Given the description of an element on the screen output the (x, y) to click on. 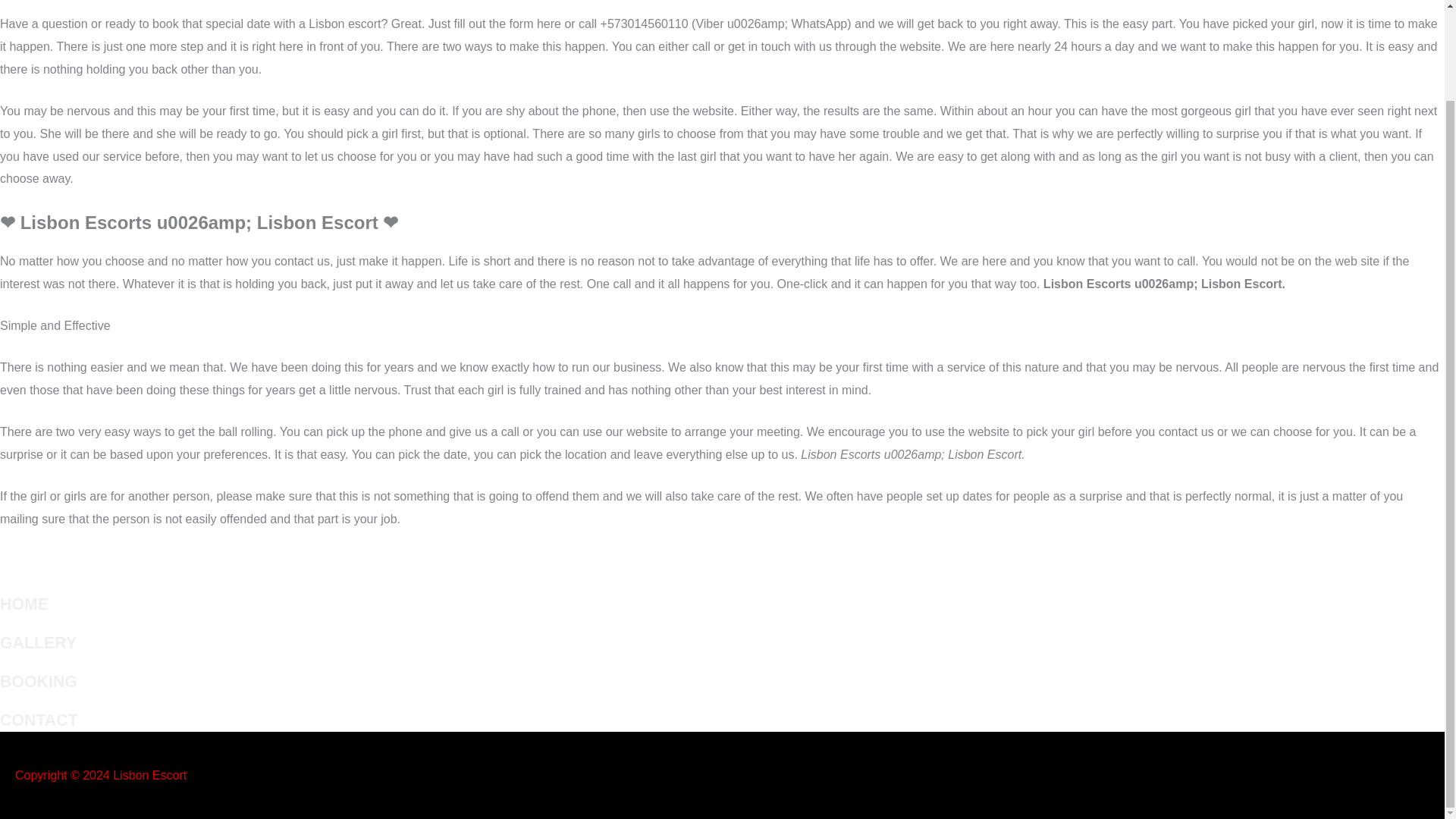
CONTACT (39, 720)
HOME (24, 604)
BOOKING (38, 681)
GALLERY (38, 642)
